Given the description of an element on the screen output the (x, y) to click on. 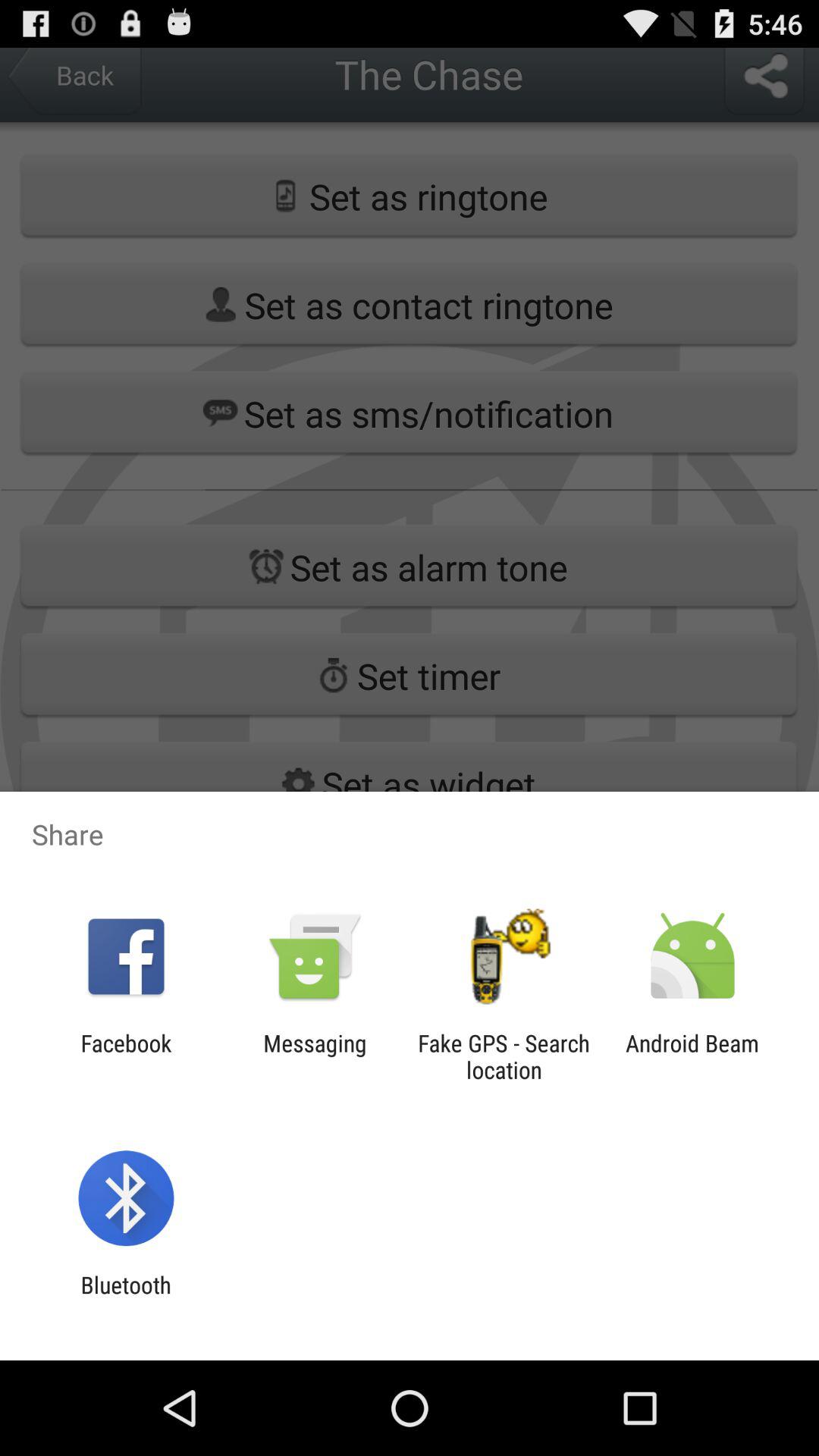
choose the icon next to messaging app (503, 1056)
